Given the description of an element on the screen output the (x, y) to click on. 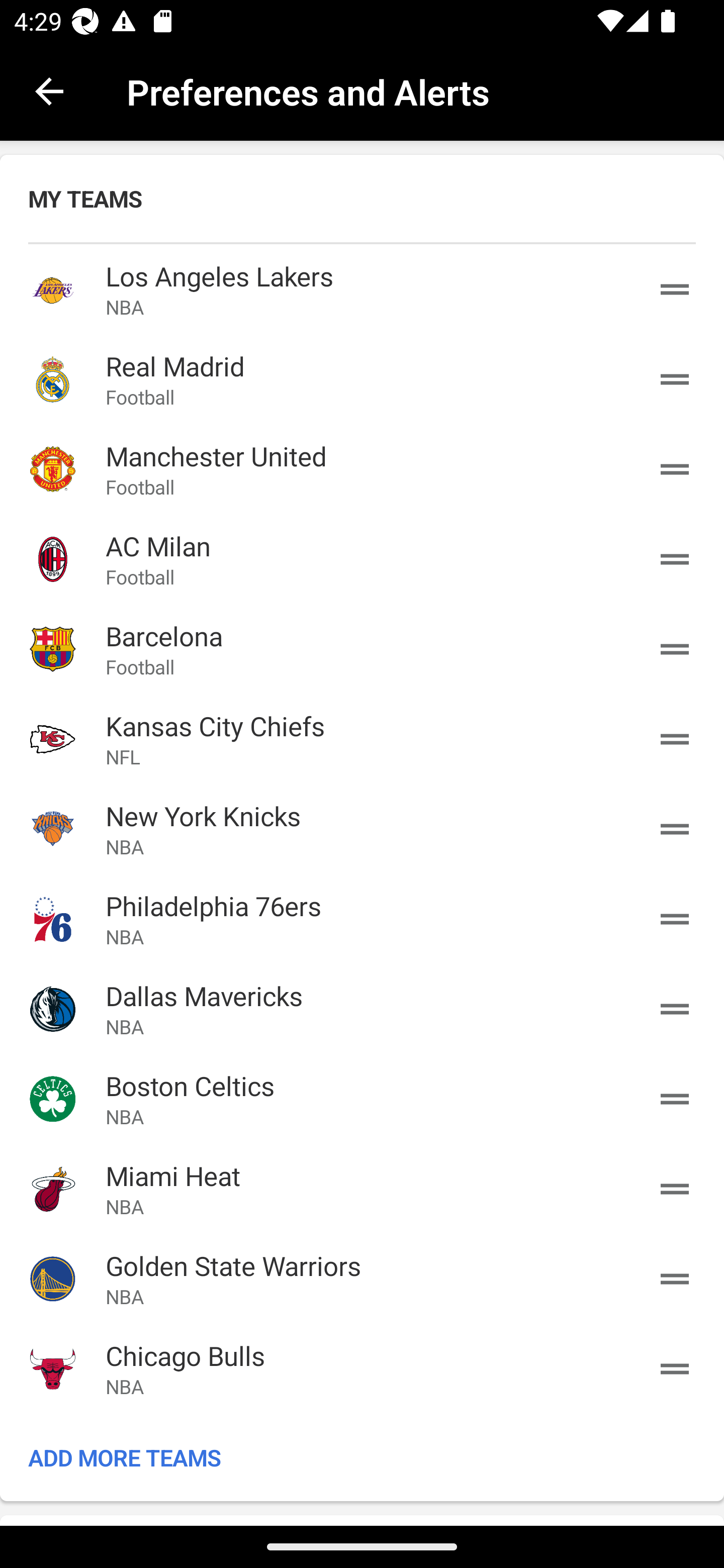
back.button (49, 90)
AC Milan AC Milan AC Milan Football Football (362, 558)
Barcelona Barcelona Barcelona Football Football (362, 648)
Miami Heat Miami Heat Miami Heat NBA NBA (362, 1188)
Chicago Bulls Chicago Bulls Chicago Bulls NBA NBA (362, 1368)
ADD MORE TEAMS (362, 1457)
